Given the description of an element on the screen output the (x, y) to click on. 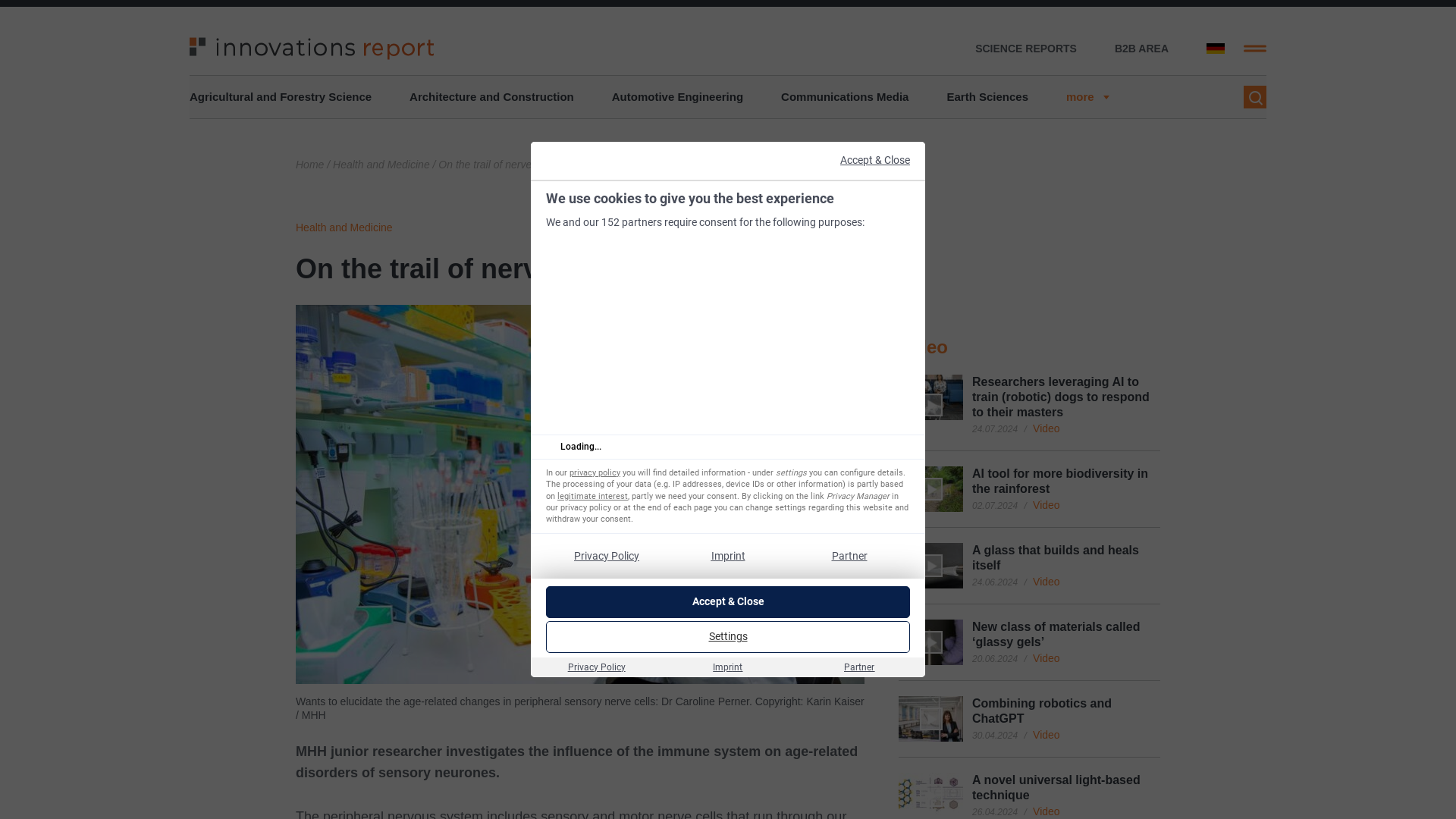
Communications Media (844, 96)
Agricultural and Forestry Science (280, 96)
B2B AREA (1142, 48)
Automotive Engineering (676, 96)
Architecture and Construction (491, 96)
SCIENCE REPORTS (1026, 48)
Earth Sciences (986, 96)
